Given the description of an element on the screen output the (x, y) to click on. 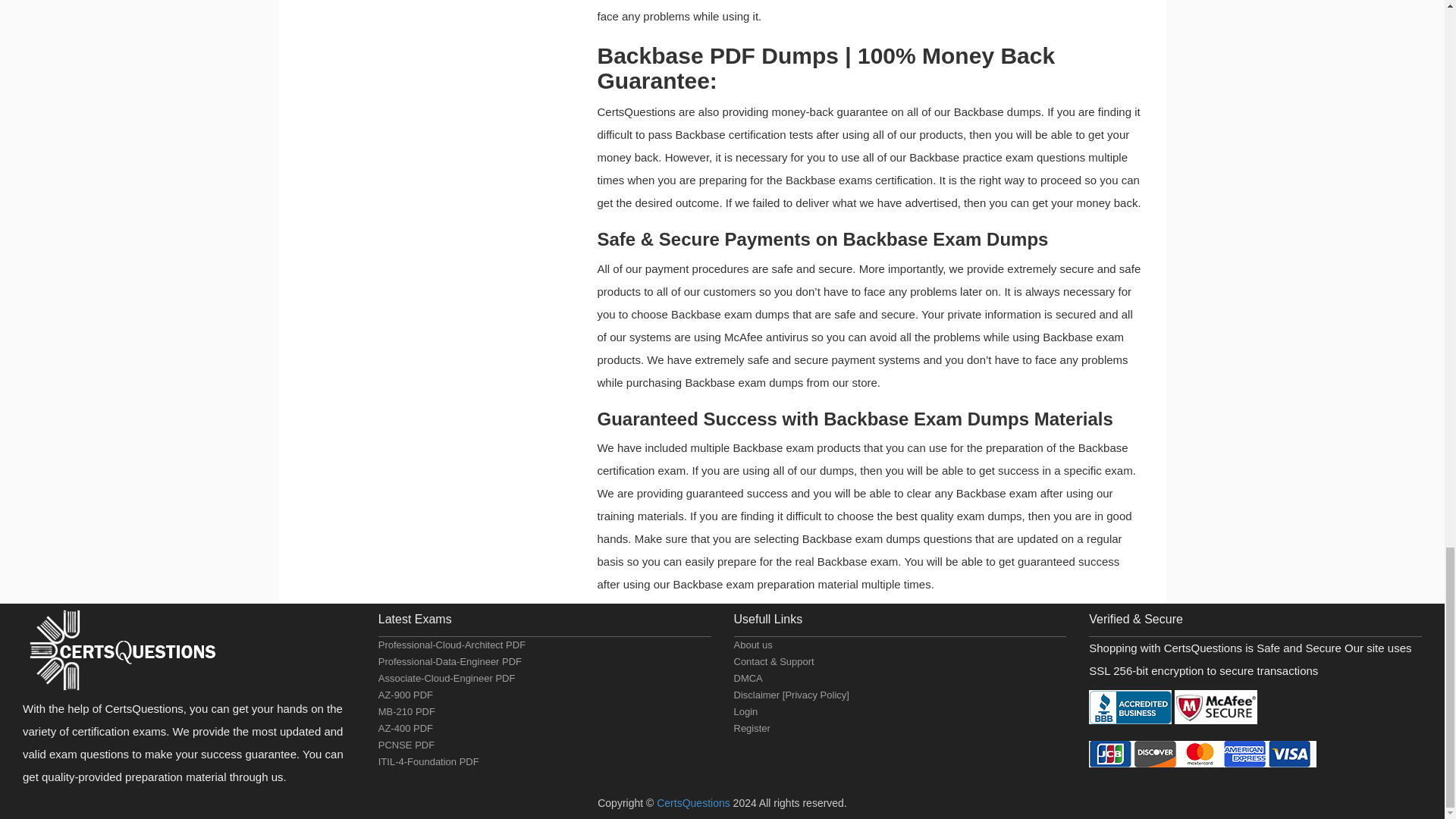
Designing and Implementing Microsoft DevOps Solutions PDF (405, 727)
Google Cloud Engineer Associate PDF (446, 677)
AZ-900 PDF (405, 695)
Professional-Cloud-Architect PDF (451, 644)
Professional-Data-Engineer PDF (449, 661)
About us (753, 644)
ITIL-4-Foundation PDF (428, 761)
Associate-Cloud-Engineer PDF (446, 677)
PCNSE PDF (405, 745)
